Given the description of an element on the screen output the (x, y) to click on. 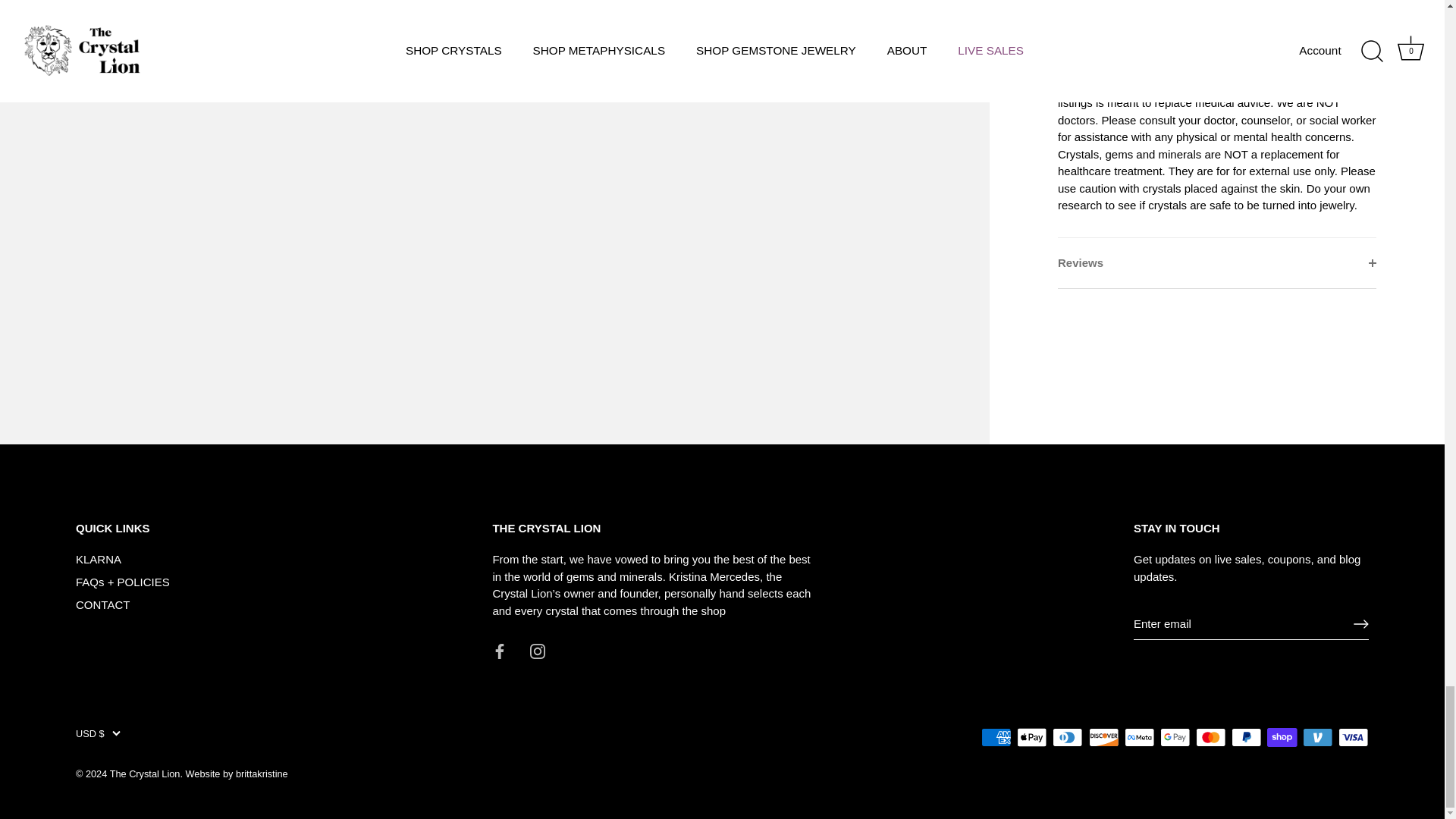
Google Pay (1174, 736)
Mastercard (1210, 736)
Diners Club (1067, 736)
Shop Pay (1281, 736)
RIGHT ARROW LONG (1361, 623)
Apple Pay (1031, 736)
Visa (1353, 736)
PayPal (1245, 736)
American Express (996, 736)
Discover (1104, 736)
